Given the description of an element on the screen output the (x, y) to click on. 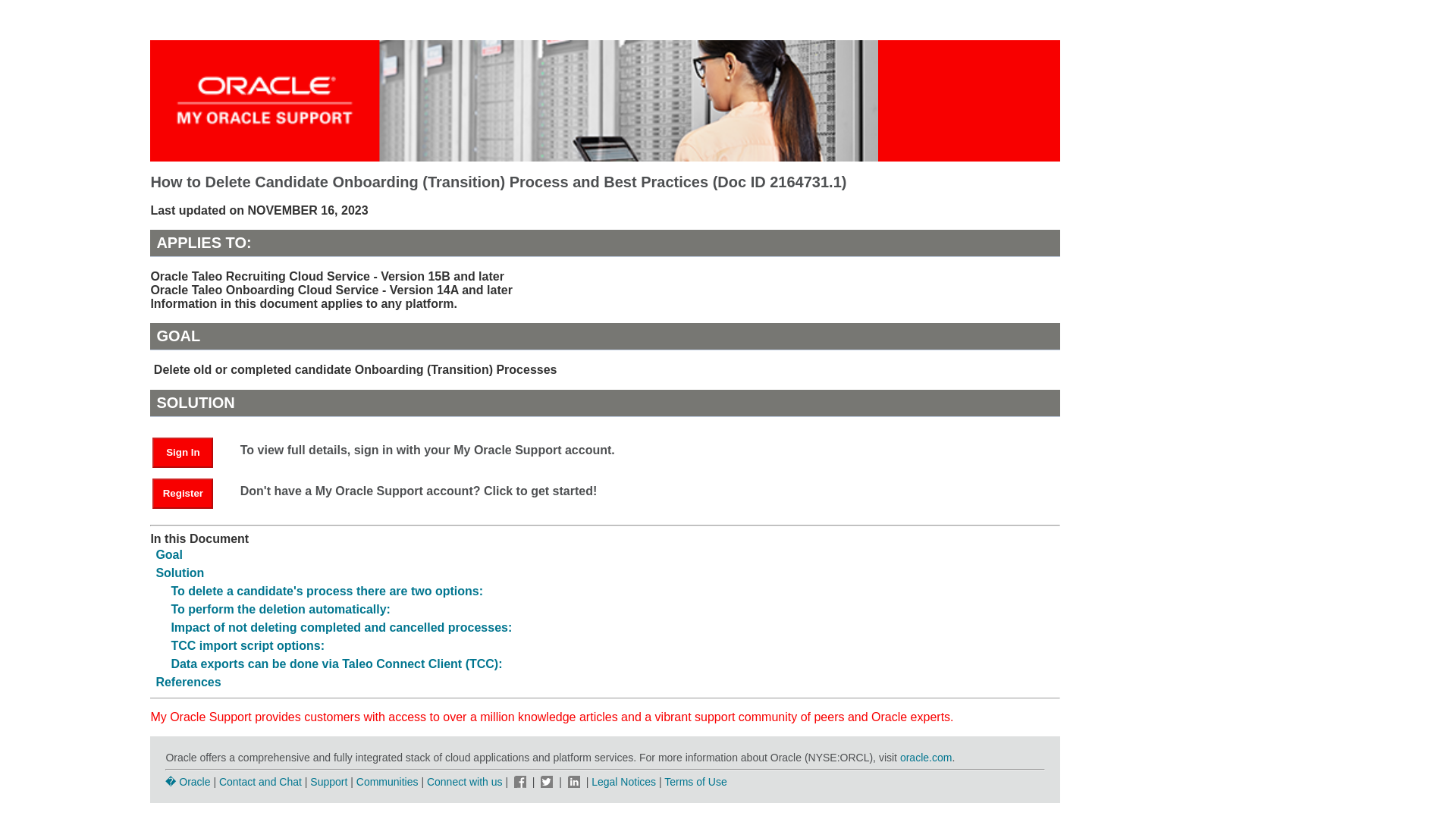
Legal Notices (623, 781)
oracle.com (925, 757)
References (188, 681)
Sign In (182, 452)
To perform the deletion automatically: (280, 608)
Terms of Use (694, 781)
Solution (179, 572)
TCC import script options: (247, 645)
Connect with us (465, 781)
Contact and Chat (260, 781)
